Given the description of an element on the screen output the (x, y) to click on. 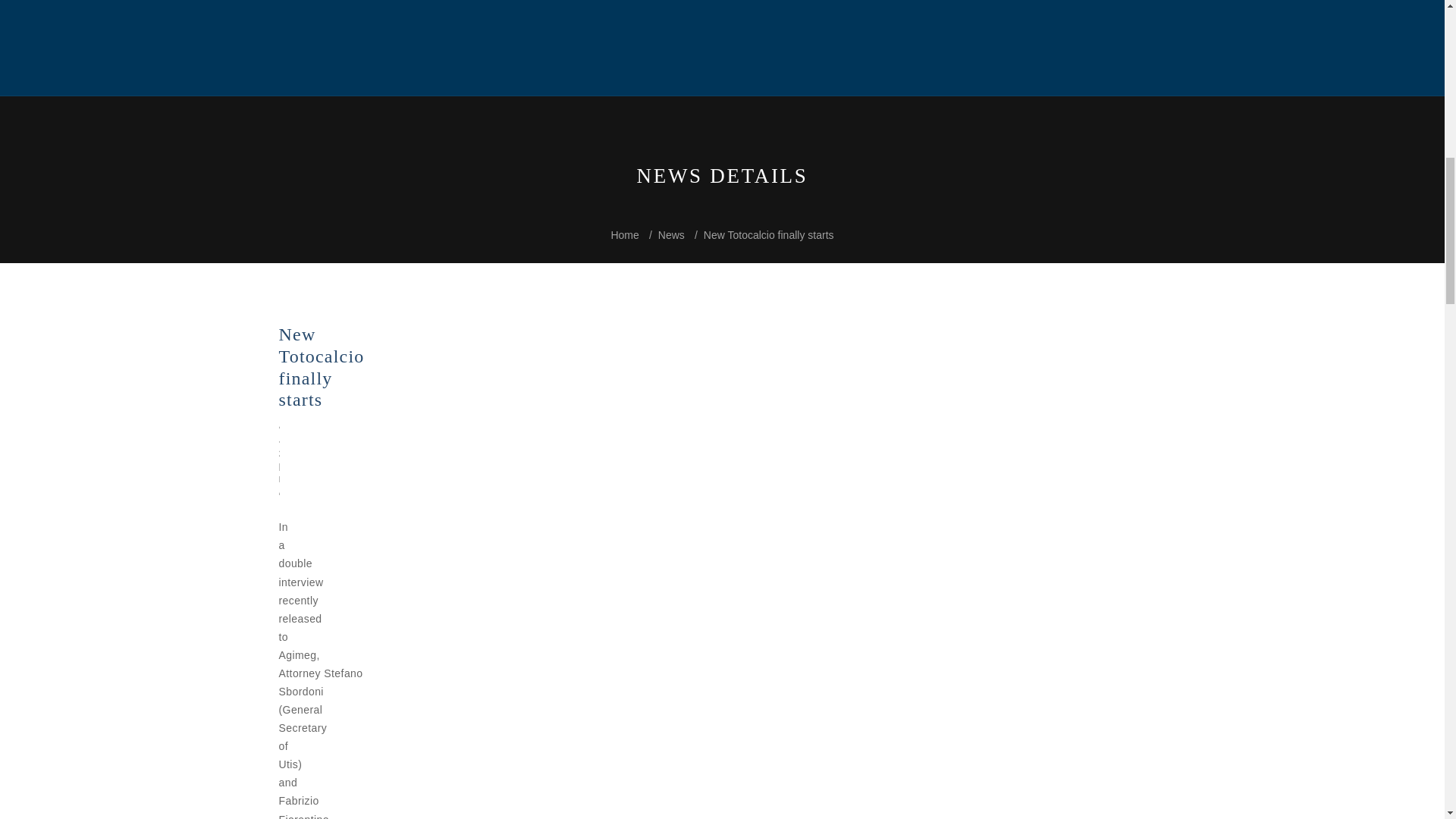
Home (624, 234)
News (671, 234)
New Totocalcio finally starts (768, 234)
